Given the description of an element on the screen output the (x, y) to click on. 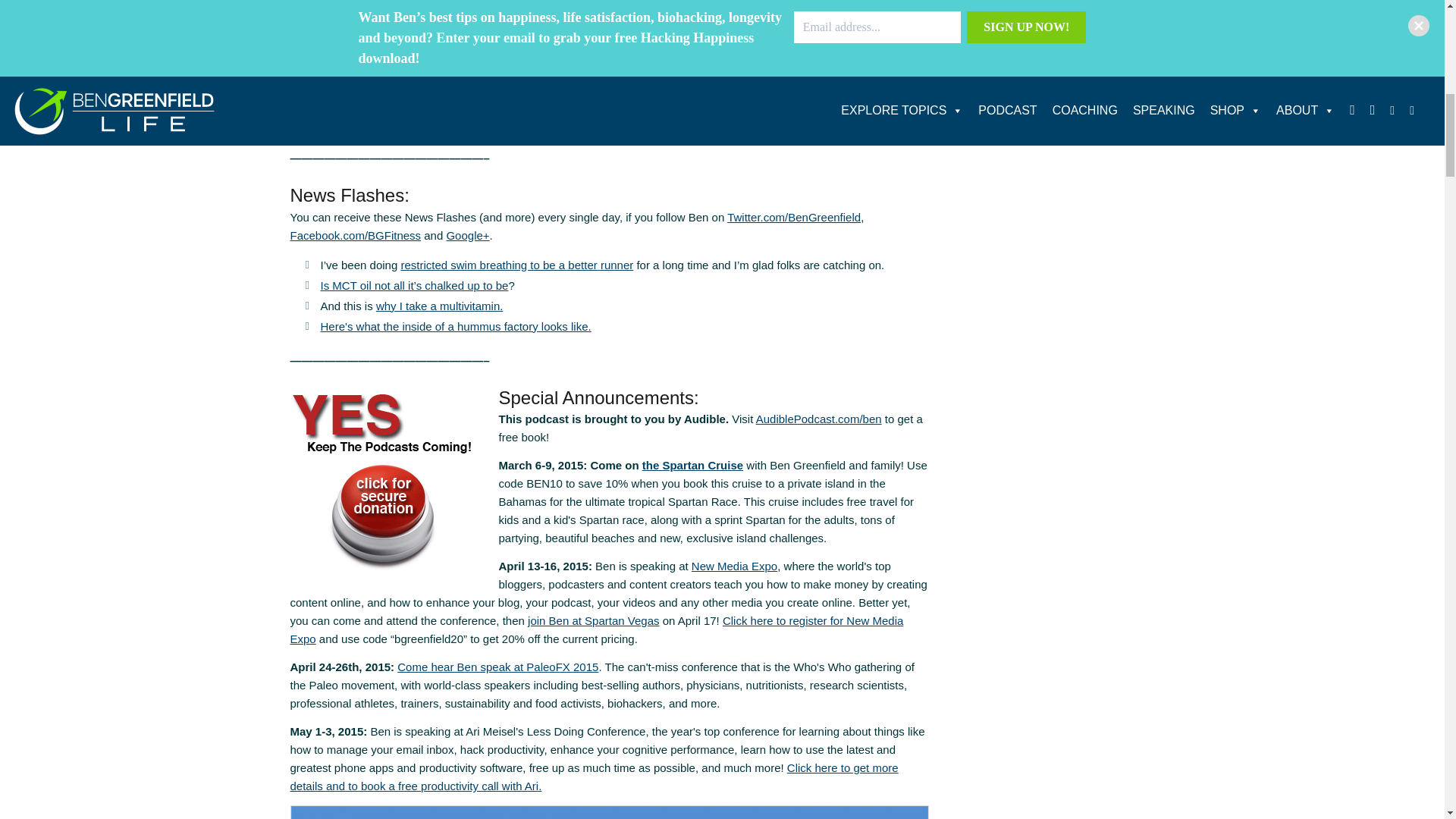
PaleoFX 2015 (497, 666)
the Spartan cruise (692, 464)
DonateButton (384, 482)
